Given the description of an element on the screen output the (x, y) to click on. 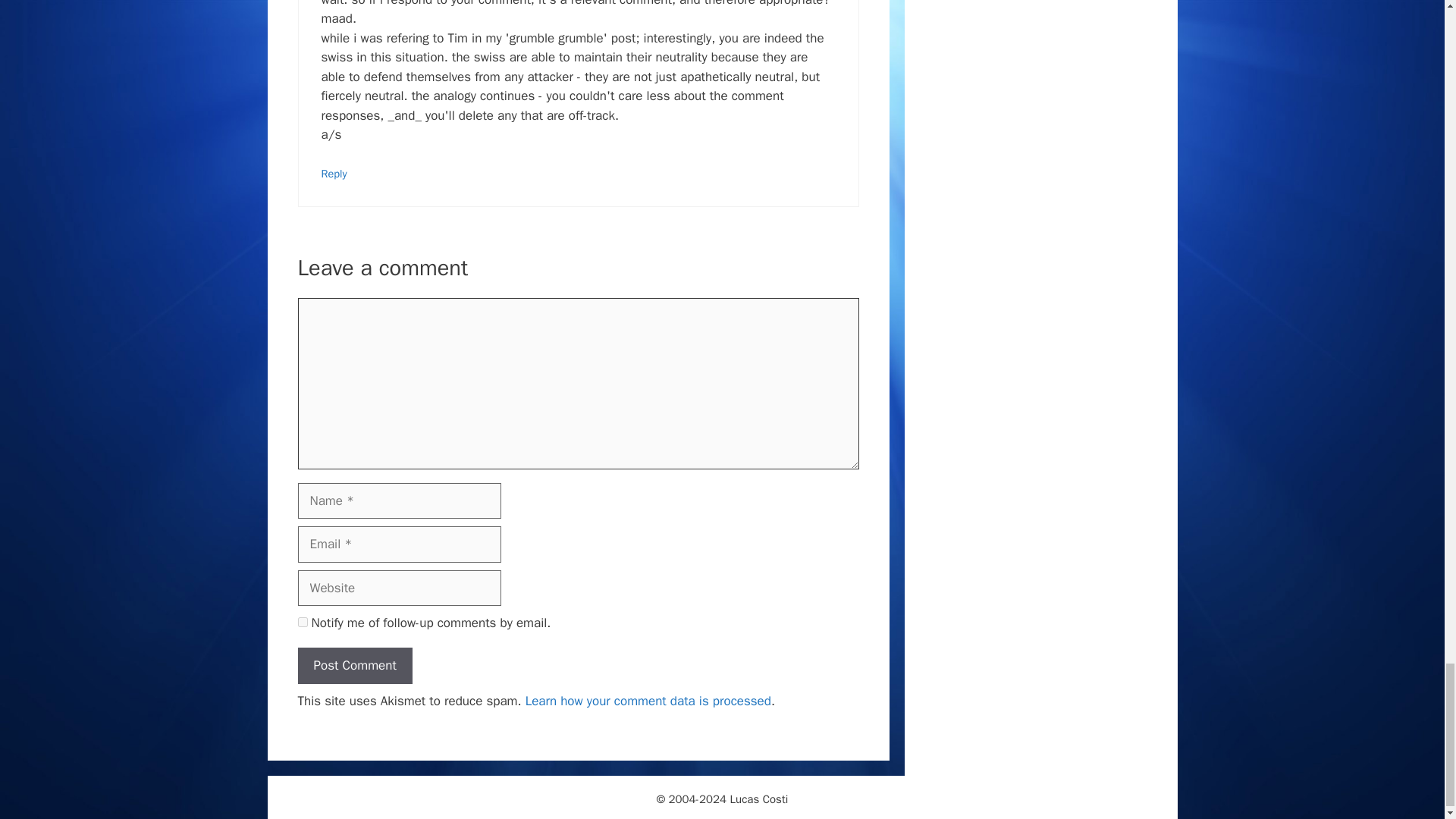
Post Comment (354, 665)
Post Comment (354, 665)
Reply (334, 173)
subscribe (302, 622)
